Given the description of an element on the screen output the (x, y) to click on. 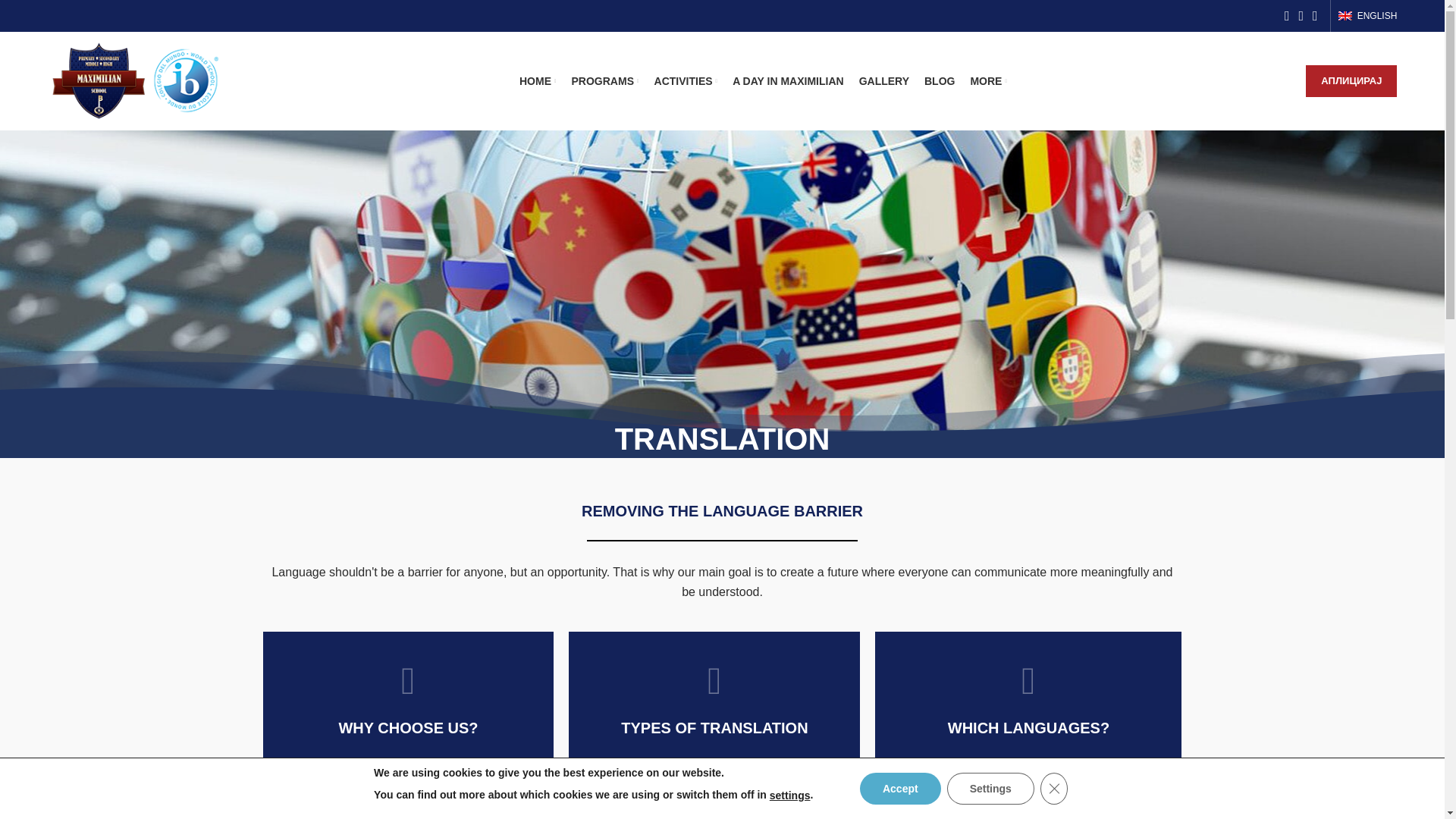
MORE (988, 81)
GALLERY (883, 81)
PROGRAMS (605, 81)
BLOG (939, 81)
HOME (537, 81)
ENGLISH (1367, 15)
ACTIVITIES (685, 81)
Chat Widget (1406, 782)
A DAY IN MAXIMILIAN (788, 81)
